Given the description of an element on the screen output the (x, y) to click on. 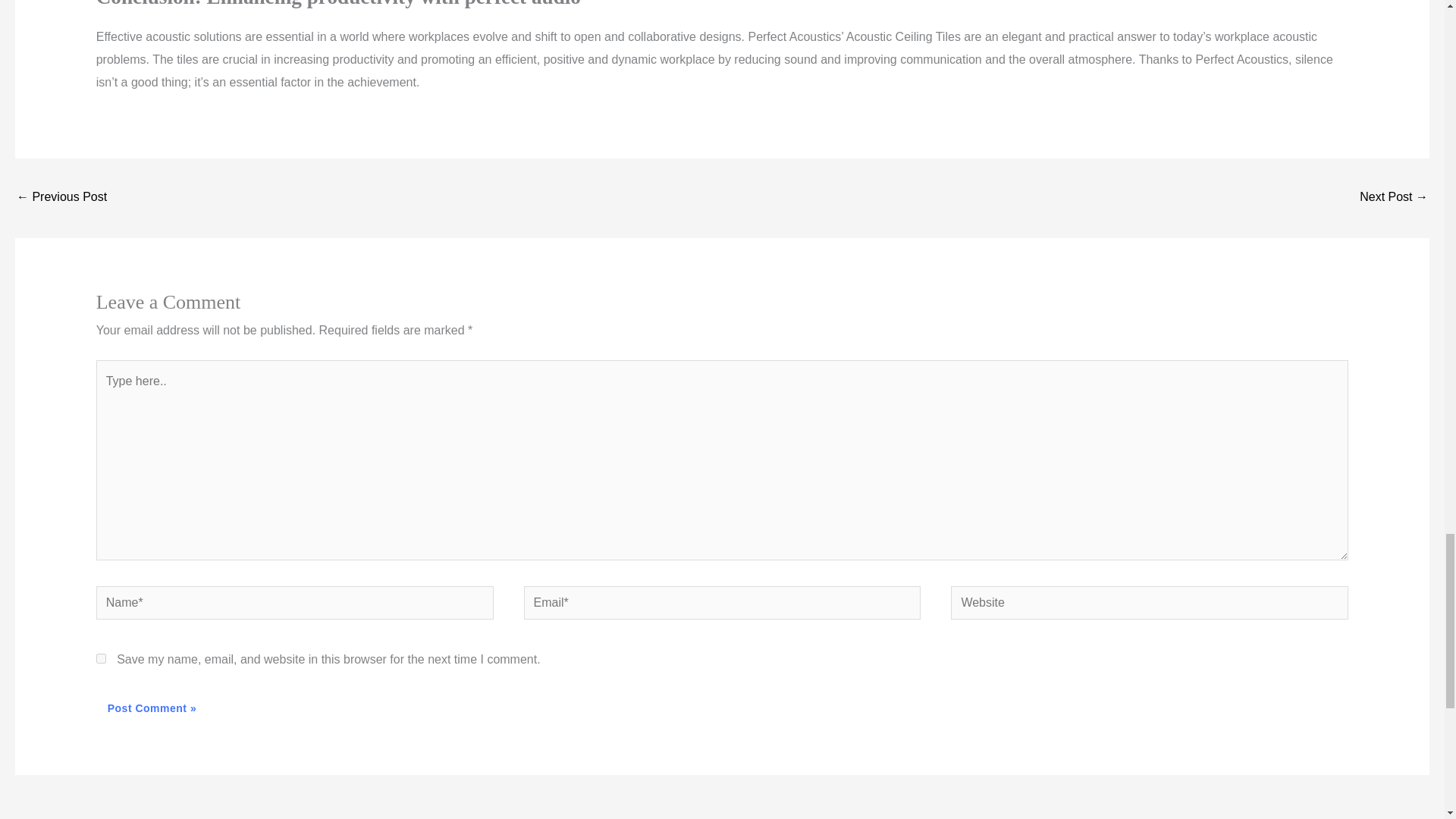
What is the function of the inertia bases? (1393, 198)
yes (101, 658)
